Given the description of an element on the screen output the (x, y) to click on. 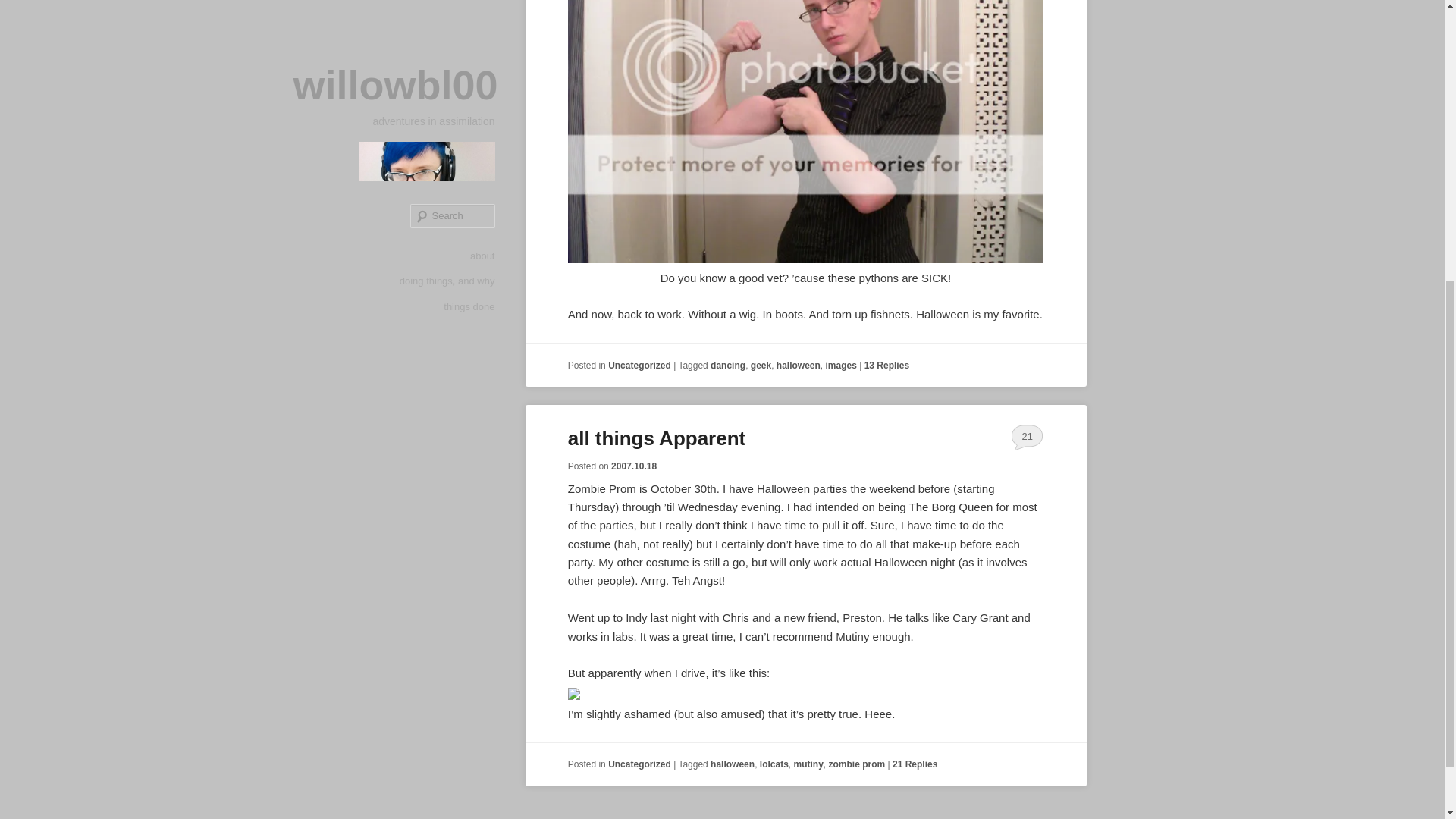
13 Replies (886, 365)
21 (1026, 436)
Uncategorized (639, 365)
11:39 (633, 466)
dancing (727, 365)
Uncategorized (639, 764)
2007.10.18 (633, 466)
geek (761, 365)
images (841, 365)
all things Apparent (656, 437)
